Given the description of an element on the screen output the (x, y) to click on. 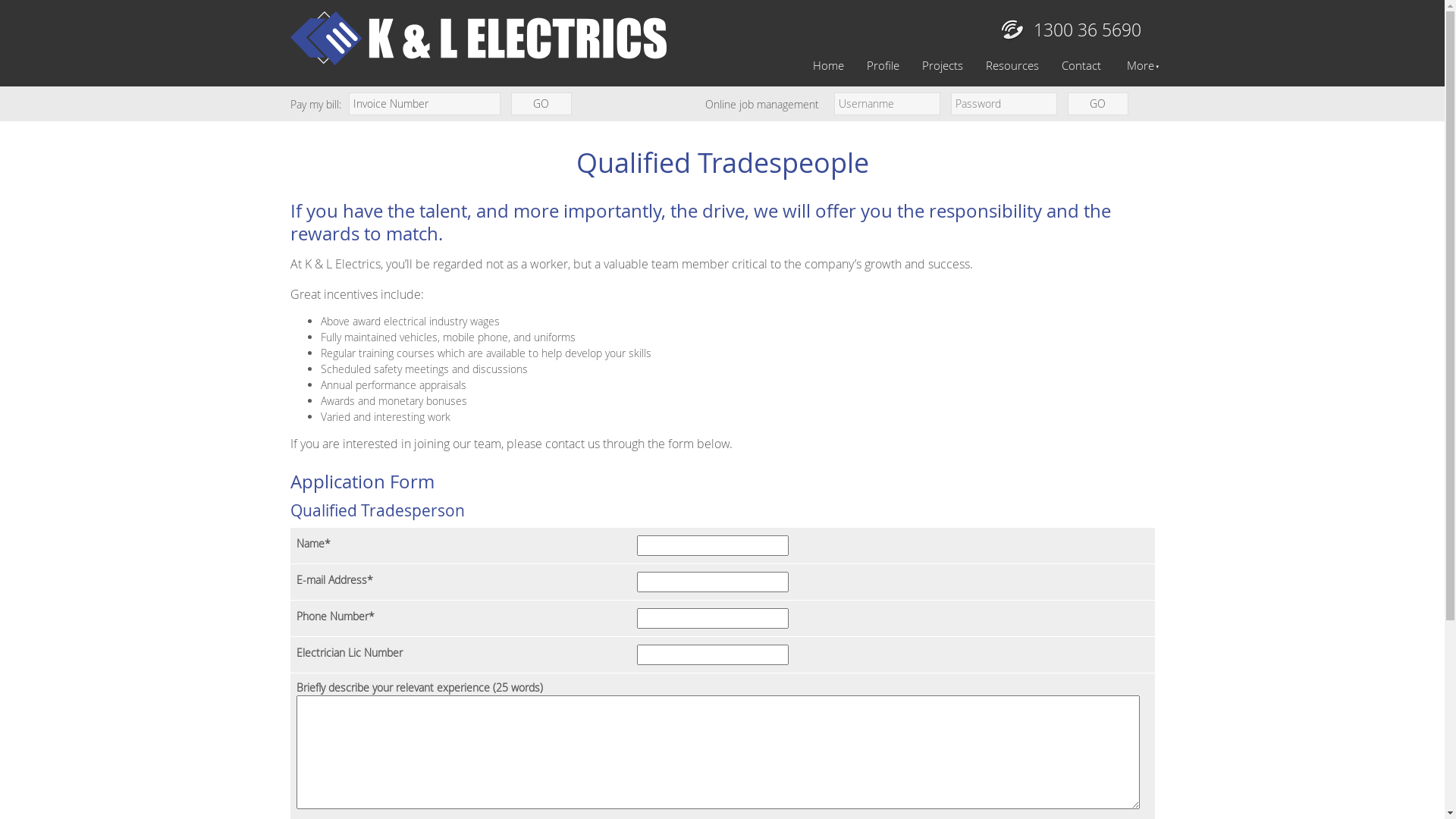
More Element type: text (1132, 65)
Home Element type: text (827, 64)
Projects Element type: text (941, 64)
Resources Element type: text (1011, 64)
GO Element type: text (541, 103)
Profile Element type: text (882, 64)
Contact Element type: text (1080, 64)
GO Element type: text (1097, 103)
Invoice Number Element type: text (424, 103)
